Given the description of an element on the screen output the (x, y) to click on. 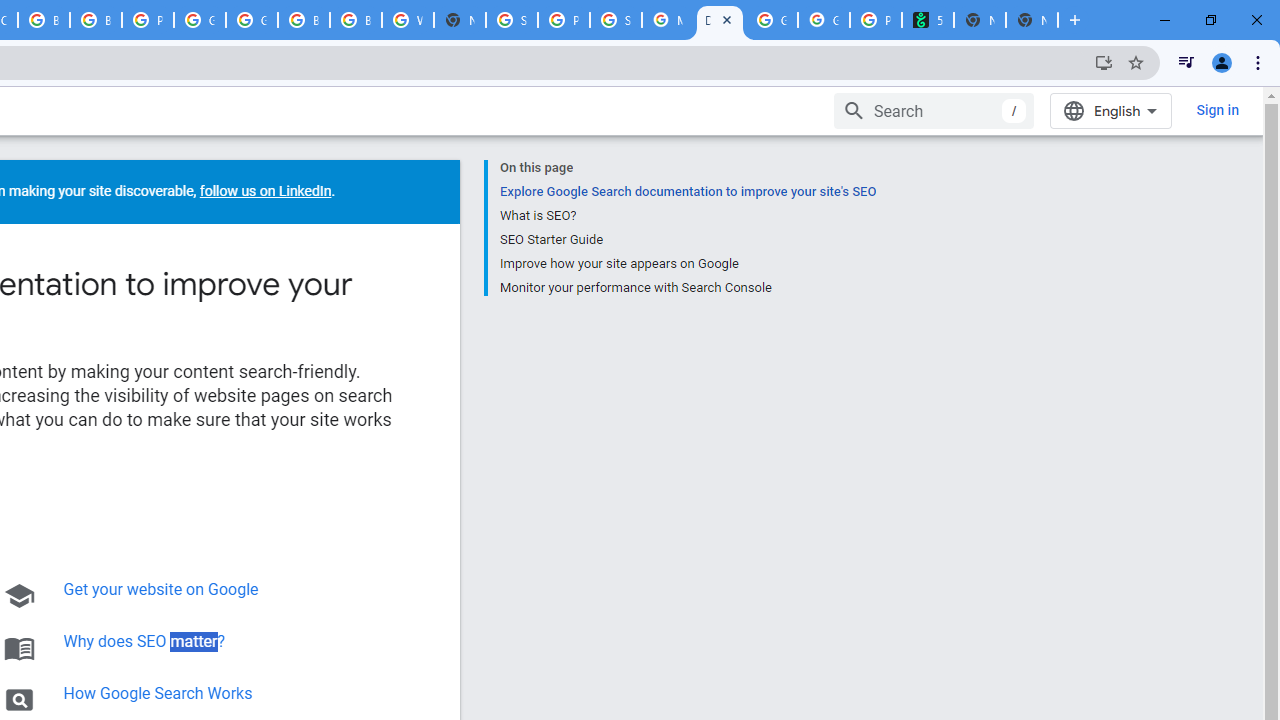
Sign in - Google Accounts (511, 20)
Why does SEO matter? (144, 641)
New Tab (1032, 20)
